Given the description of an element on the screen output the (x, y) to click on. 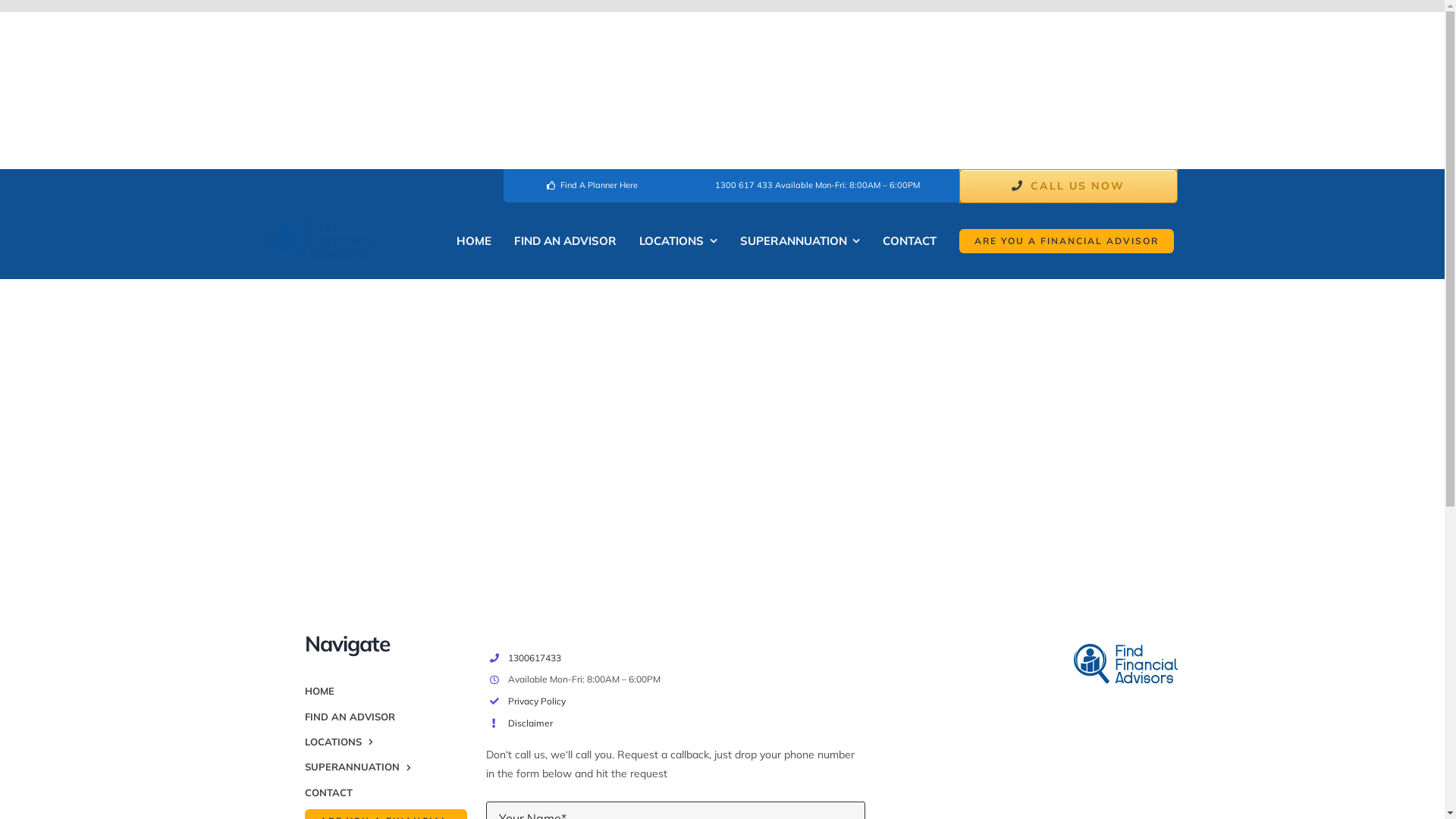
Privacy Policy  Element type: text (537, 700)
ARE YOU A FINANCIAL ADVISOR Element type: text (1066, 240)
CONTACT Element type: text (385, 792)
SUPERANNUATION Element type: text (800, 240)
CALL US NOW Element type: text (1067, 186)
1300617433 Element type: text (534, 657)
HOME Element type: text (385, 690)
LOCATIONS Element type: text (385, 741)
LOCATIONS Element type: text (678, 240)
Find A Planner Here Element type: text (589, 185)
HOME Element type: text (473, 240)
FIND AN ADVISOR Element type: text (385, 716)
CONTACT Element type: text (909, 240)
Disclaimer Element type: text (530, 722)
FIND AN ADVISOR Element type: text (565, 240)
SUPERANNUATION Element type: text (385, 766)
